Given the description of an element on the screen output the (x, y) to click on. 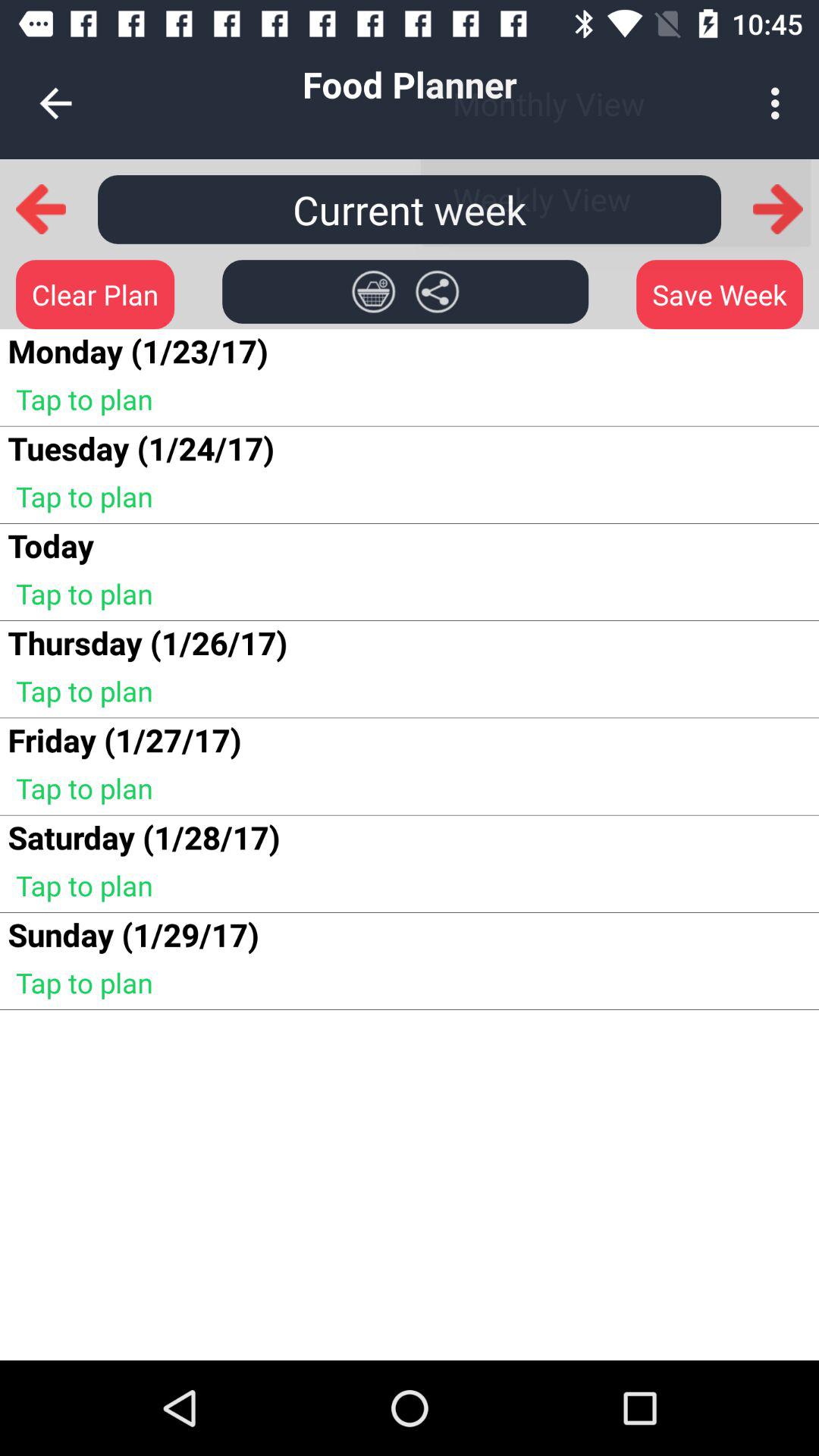
go back (40, 209)
